Given the description of an element on the screen output the (x, y) to click on. 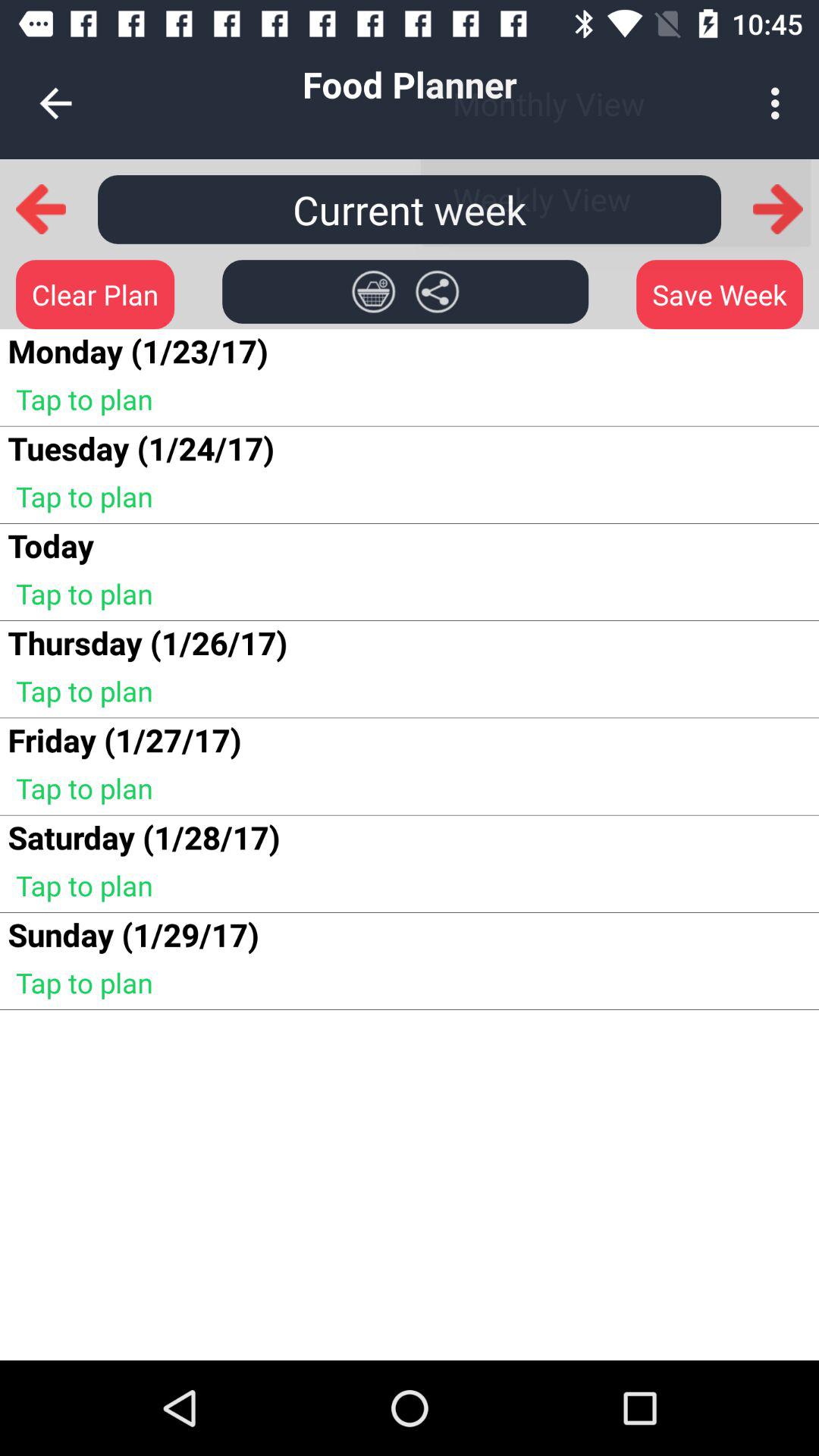
go back (40, 209)
